Given the description of an element on the screen output the (x, y) to click on. 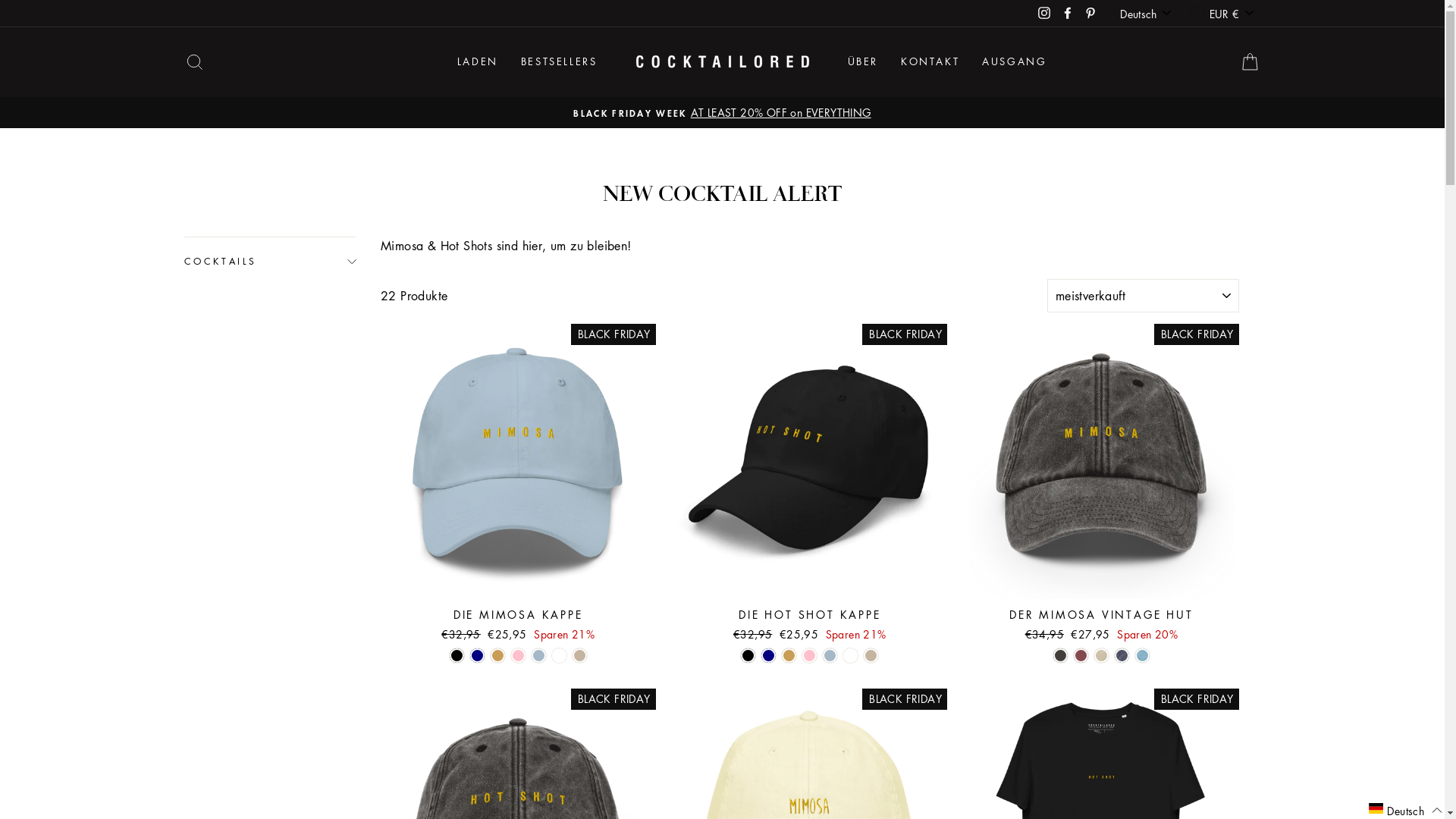
Direkt zum Inhalt Element type: text (0, 0)
Instagram Element type: text (1044, 12)
COCKTAILS Element type: text (269, 261)
Pinterest Element type: text (1090, 12)
KONTAKT Element type: text (929, 61)
Facebook Element type: text (1067, 12)
CART Element type: text (1249, 61)
LADEN Element type: text (477, 61)
BESTSELLERS Element type: text (558, 61)
SUCHEN Element type: text (193, 61)
Deutsch Element type: text (1146, 13)
AUSGANG Element type: text (1013, 61)
